Given the description of an element on the screen output the (x, y) to click on. 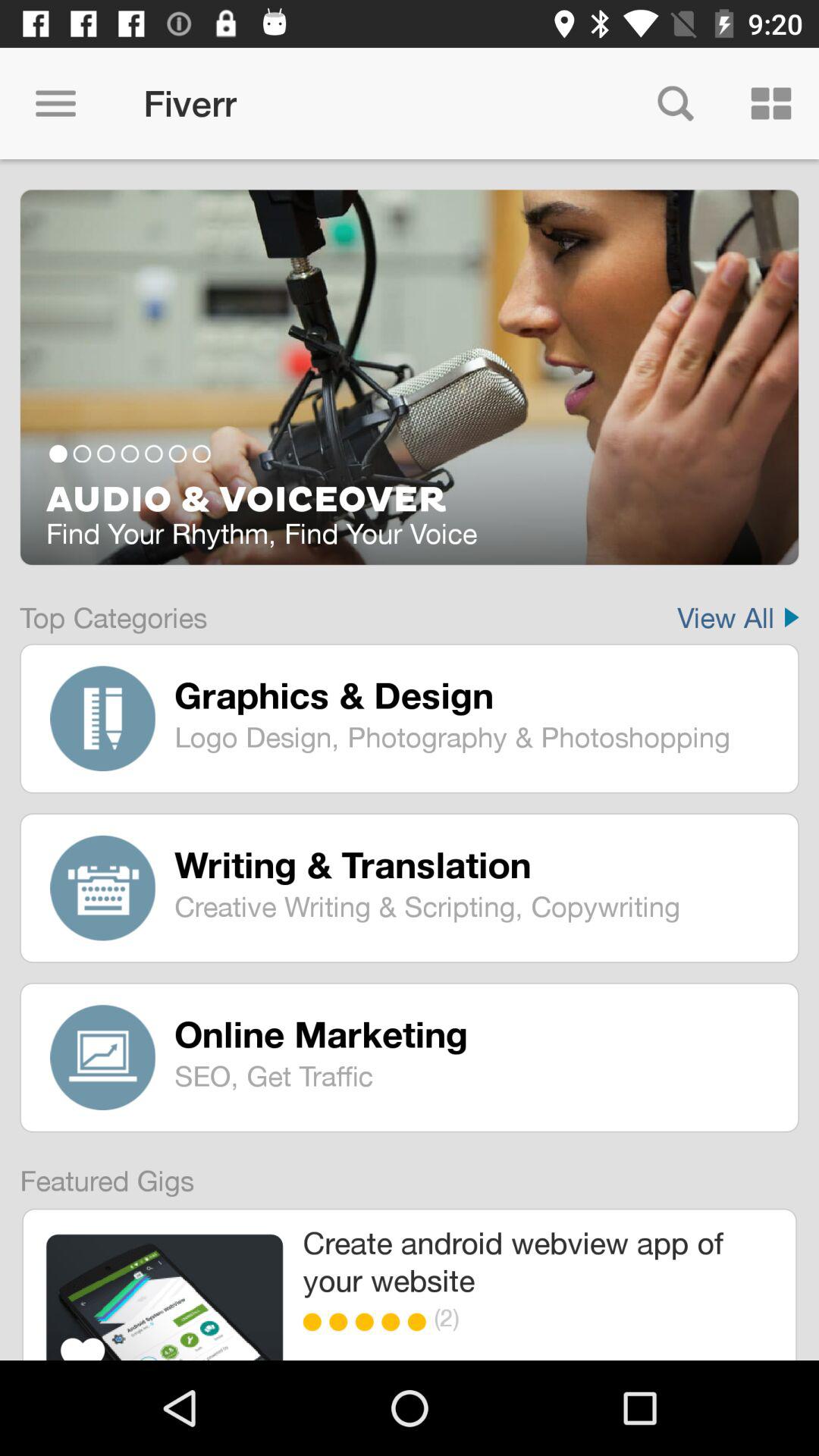
turn off the item below the online marketing icon (475, 1075)
